Given the description of an element on the screen output the (x, y) to click on. 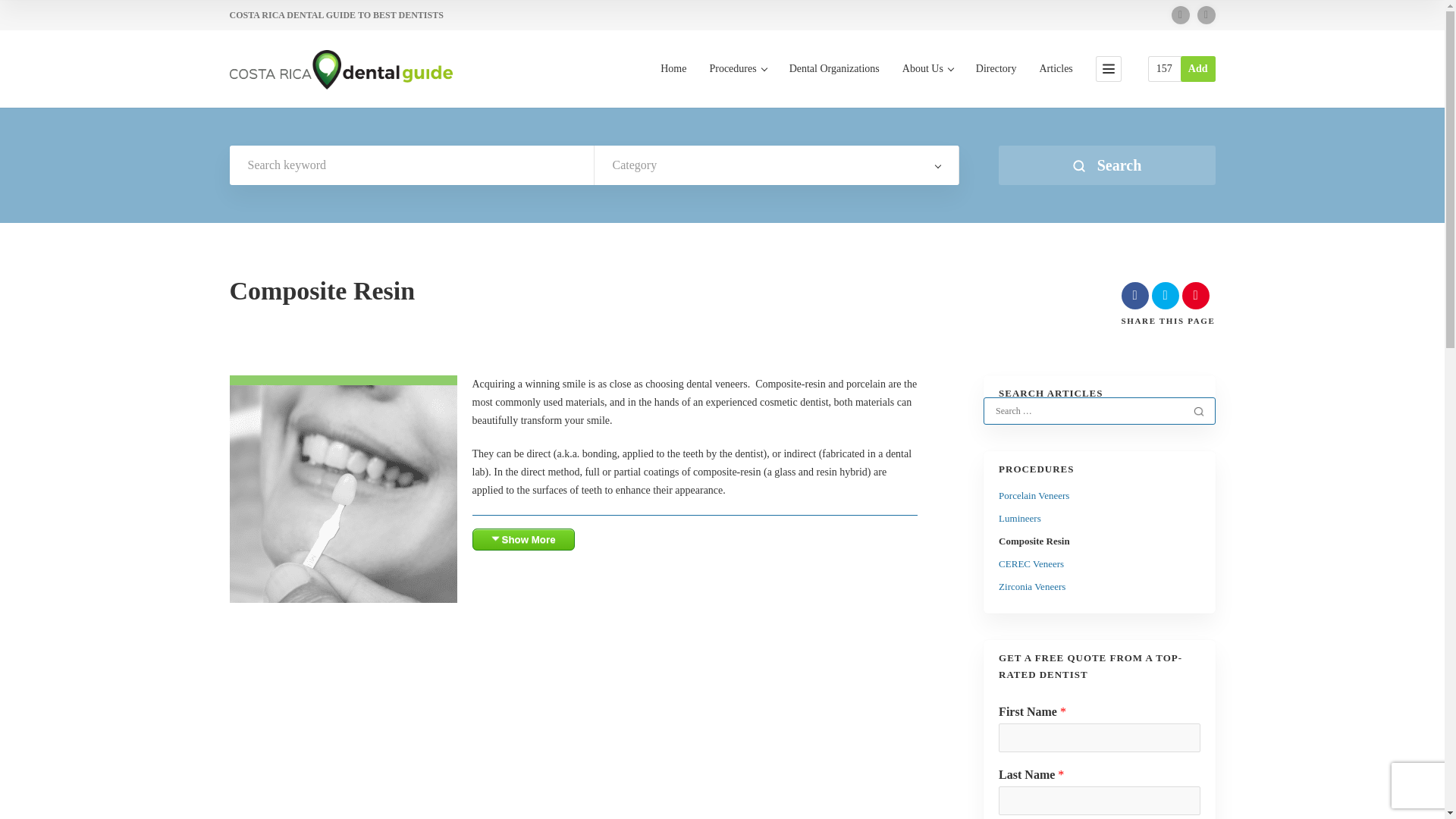
Search (1105, 165)
Directory (995, 84)
Search (1198, 411)
Dental Organizations (834, 84)
About Us (927, 84)
Procedures (737, 84)
Search for: (1087, 411)
Search (1105, 165)
Resources (1164, 68)
Search (1198, 411)
